Given the description of an element on the screen output the (x, y) to click on. 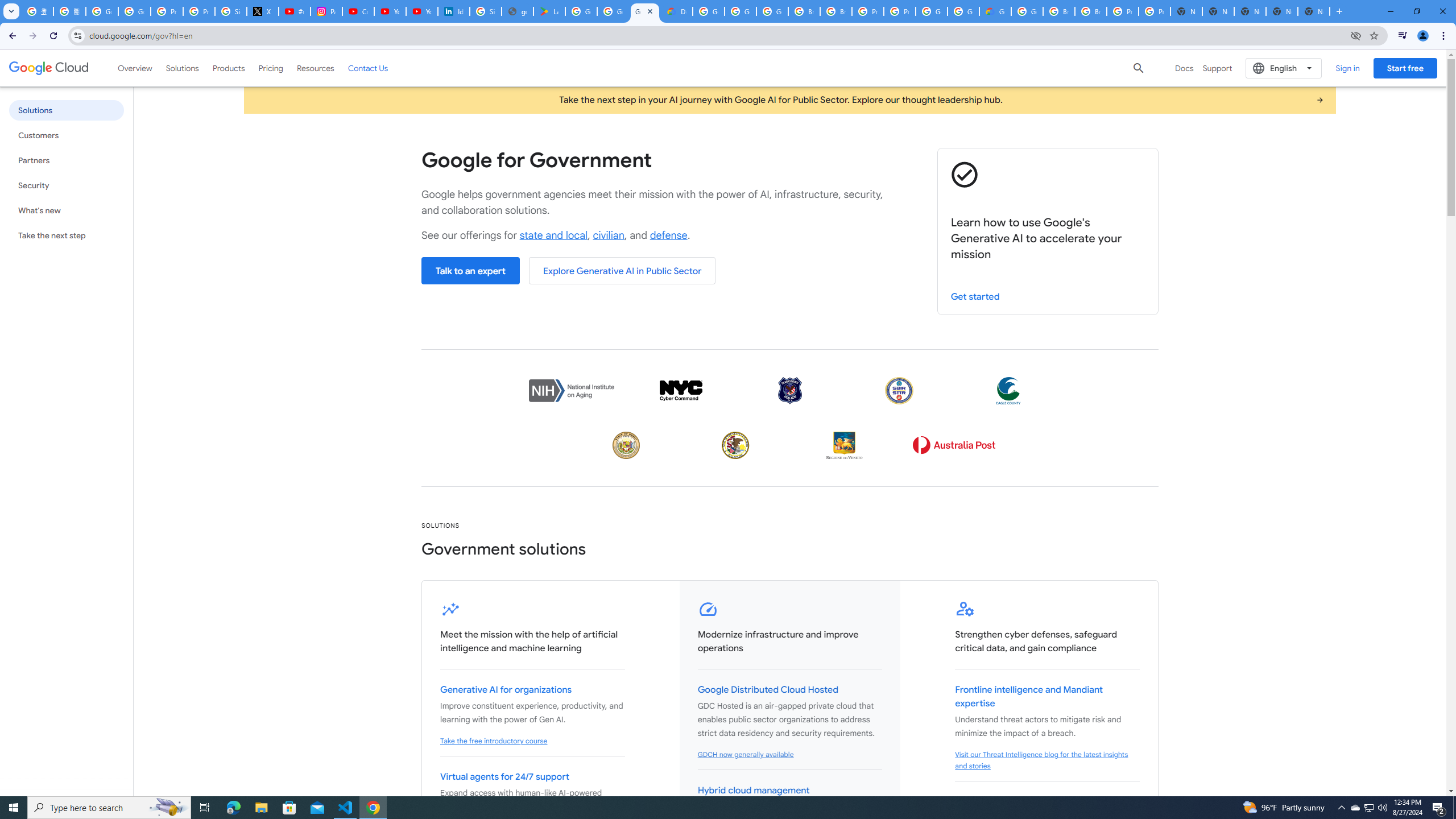
Google Cloud (48, 67)
Security (65, 185)
Google Distributed Cloud Hosted (767, 689)
State of Hawaii (625, 445)
#nbabasketballhighlights - YouTube (294, 11)
What's new (65, 209)
Virtual agents for 24/7 support (504, 776)
